Given the description of an element on the screen output the (x, y) to click on. 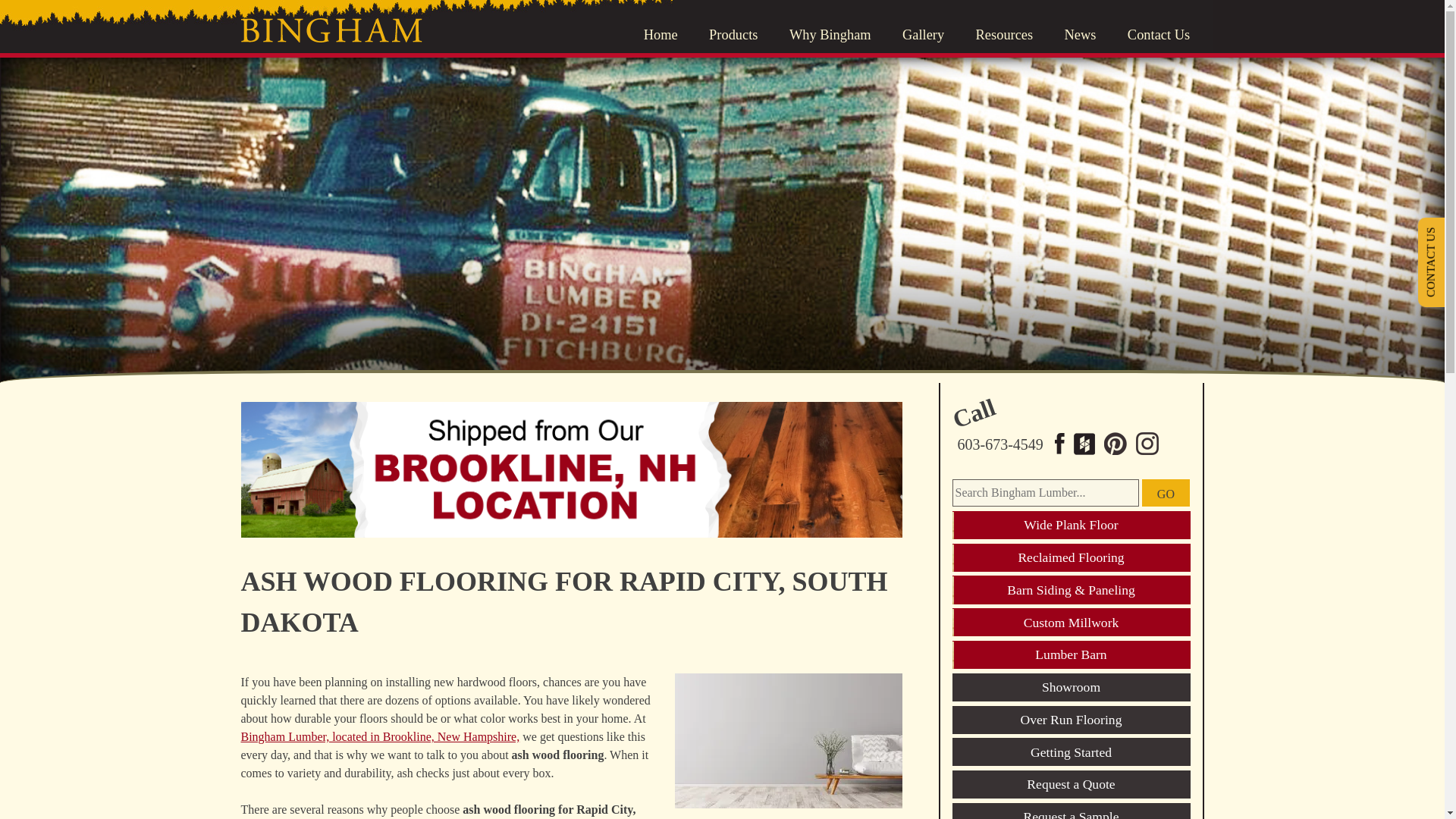
GO (1165, 492)
Products (733, 35)
Home (660, 35)
Bingham Lumber (331, 30)
Contact Us (1157, 35)
Resources (1004, 35)
Why Bingham (829, 35)
Gallery (922, 35)
News (1080, 35)
